Given the description of an element on the screen output the (x, y) to click on. 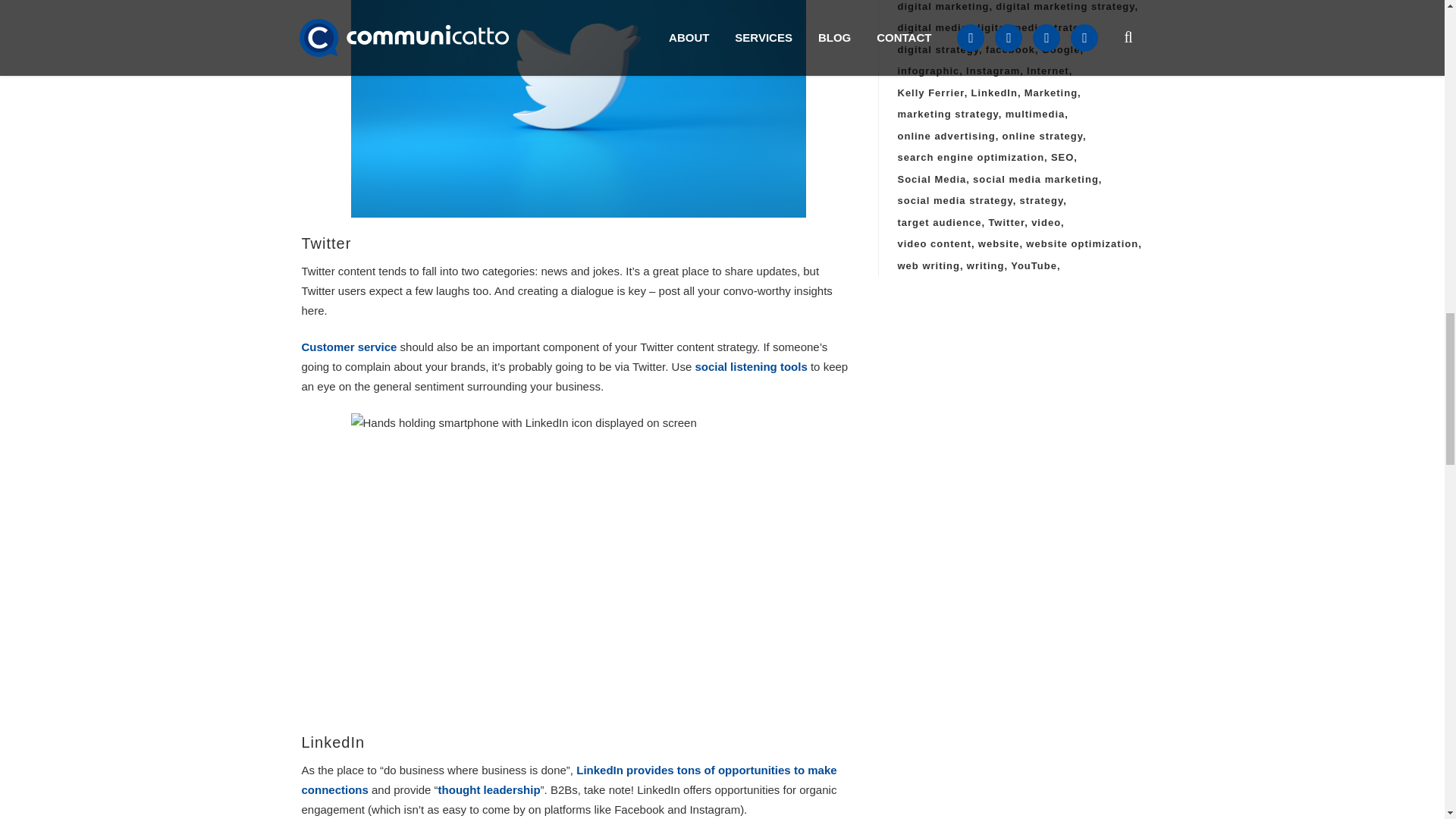
social listening tools (750, 366)
thought leadership (489, 789)
LinkedIn provides tons of opportunities to make connections (569, 779)
Customer service (349, 346)
